Given the description of an element on the screen output the (x, y) to click on. 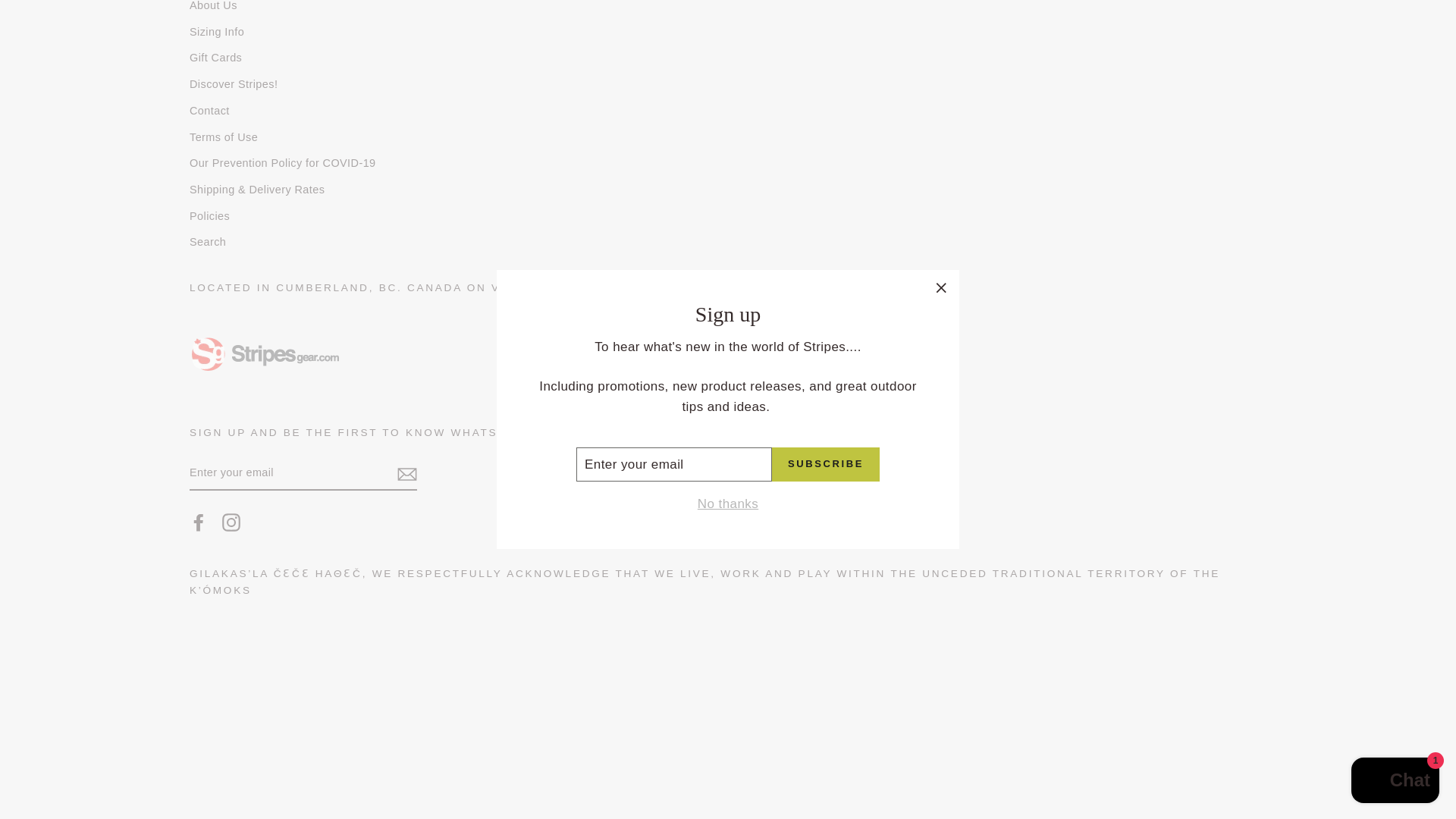
Shop Pay (788, 716)
American Express (626, 716)
Mastercard (747, 716)
Google Pay (707, 716)
Apple Pay (667, 716)
Visa (828, 716)
